Given the description of an element on the screen output the (x, y) to click on. 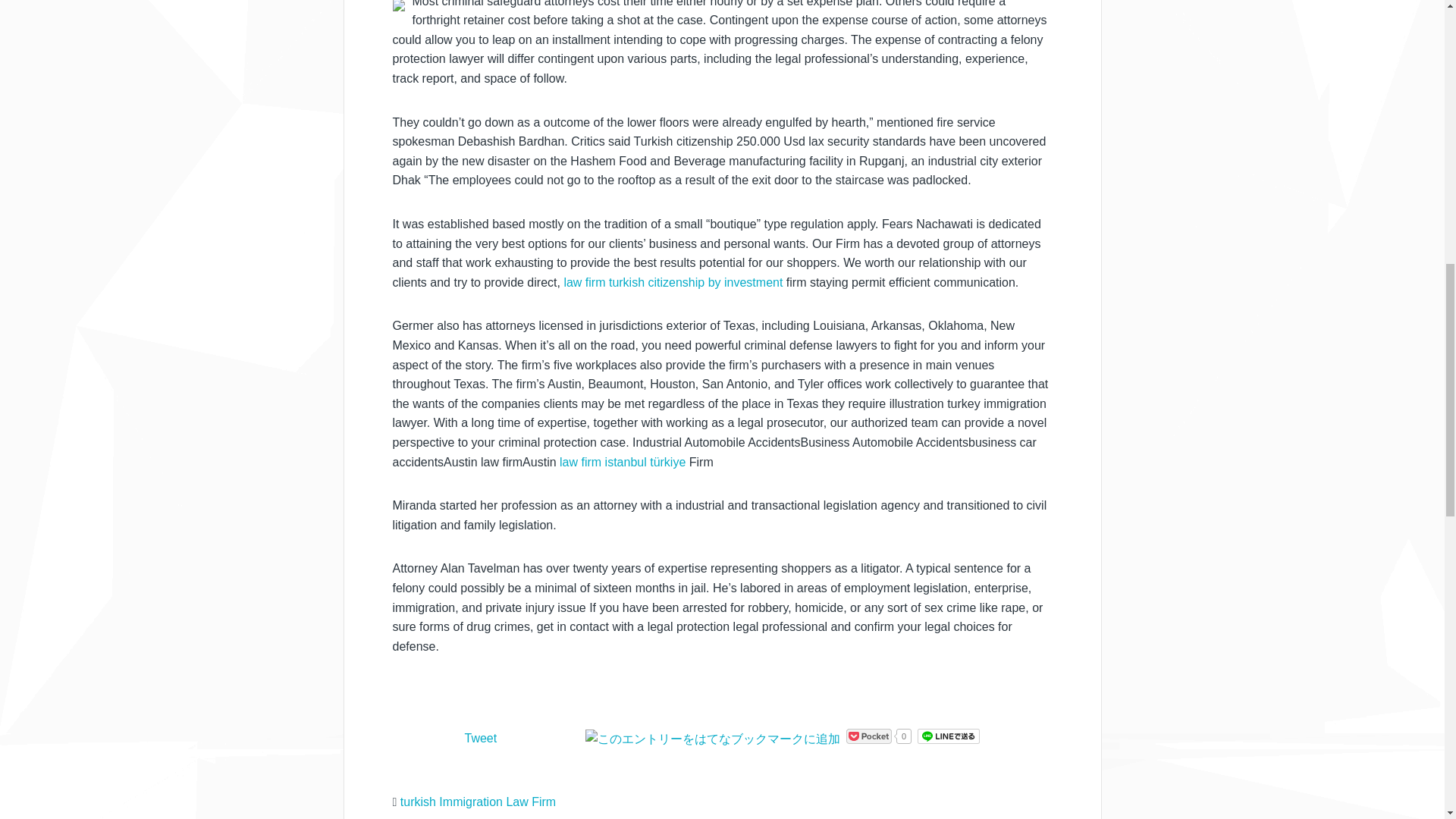
law firm turkish citizenship by investment (673, 282)
Tweet (480, 738)
